Given the description of an element on the screen output the (x, y) to click on. 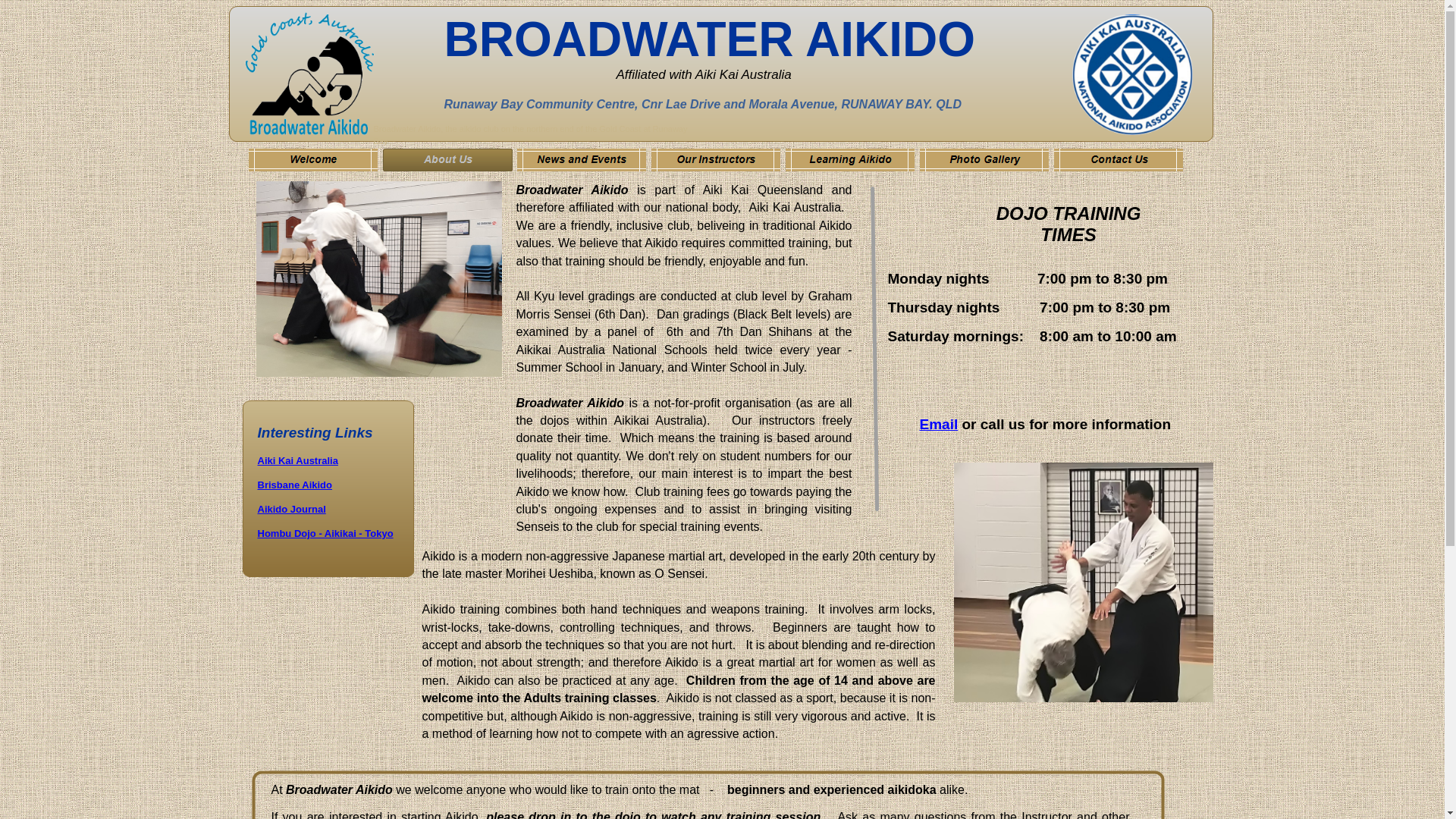
Instructors Element type: hover (581, 159)
Coming Events Element type: hover (850, 159)
Welcome to Broadwater Aikido Element type: hover (313, 159)
Hombu Dojo - Aikikai - Tokyo Element type: text (325, 533)
Email Element type: text (938, 425)
Aiki Kai Australia Element type: text (297, 460)
Info New Students Element type: hover (715, 159)
Media Element type: hover (983, 159)
Contact Us Element type: hover (1118, 159)
About Us Element type: hover (446, 159)
Aikido Journal Element type: text (291, 508)
Brisbane Aikido Element type: text (294, 484)
Aiki Kai Australia Element type: hover (328, 405)
